Given the description of an element on the screen output the (x, y) to click on. 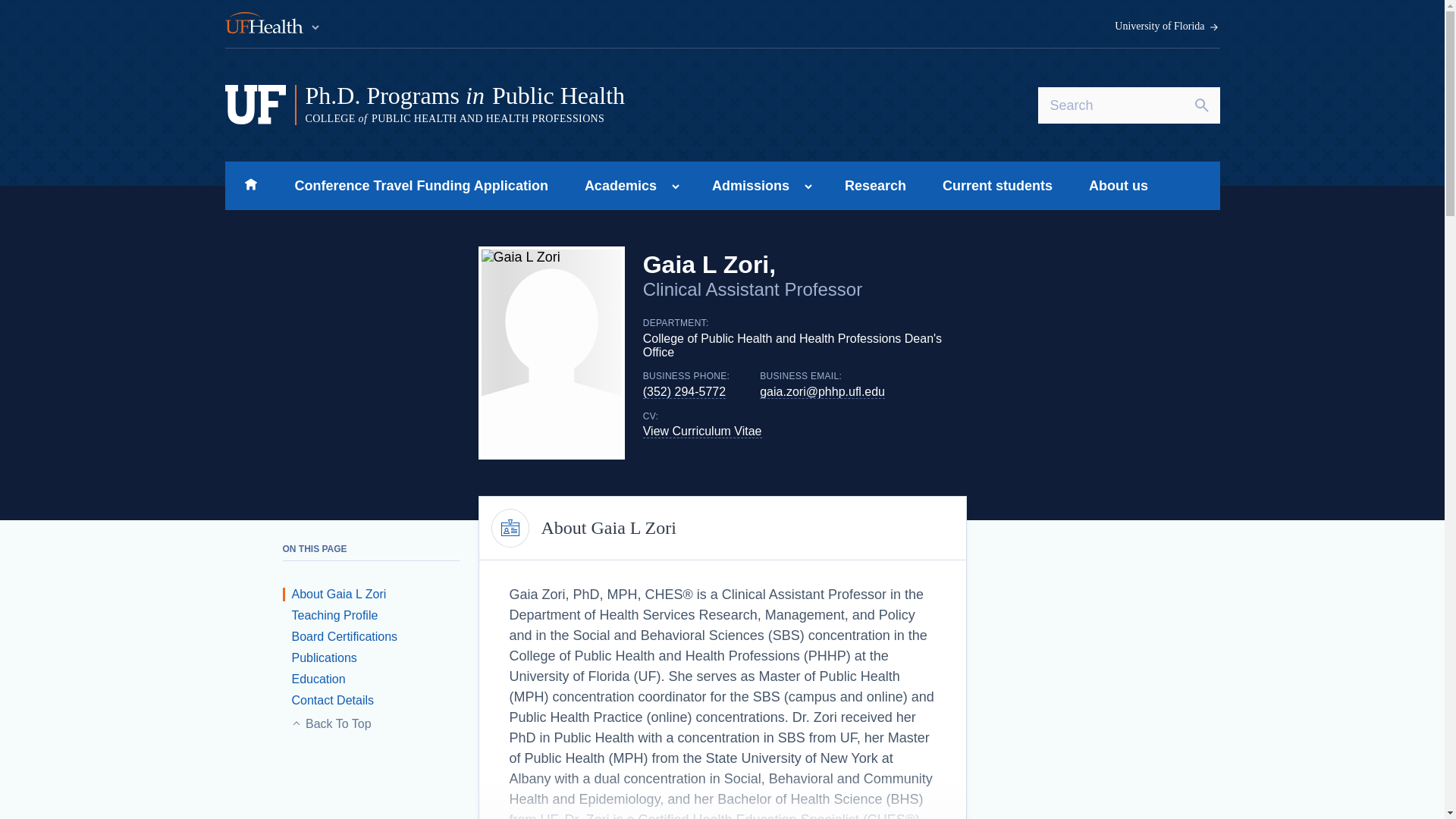
Back To Top (378, 723)
University of Florida (1167, 26)
Conference Travel Funding Application (421, 185)
Research (875, 185)
Education (313, 678)
View Curriculum Vitae (702, 431)
Contact Details (328, 699)
About Gaia L Zori (333, 594)
Publications (319, 657)
